Given the description of an element on the screen output the (x, y) to click on. 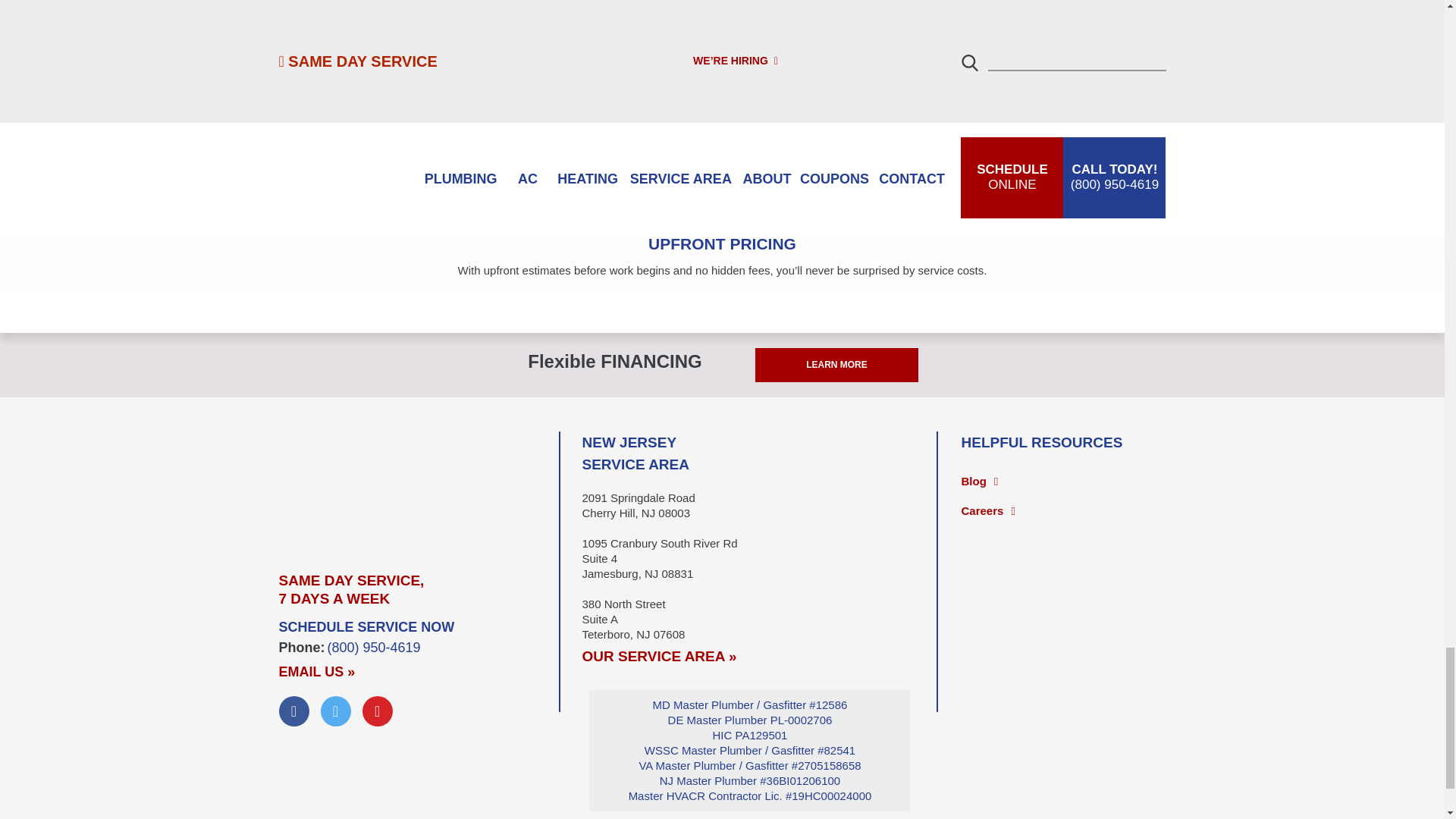
Len The Plumber (419, 488)
Email us (317, 671)
Phone Number (373, 647)
Facebook (293, 711)
Youtube (377, 711)
Twitter (335, 711)
